Given the description of an element on the screen output the (x, y) to click on. 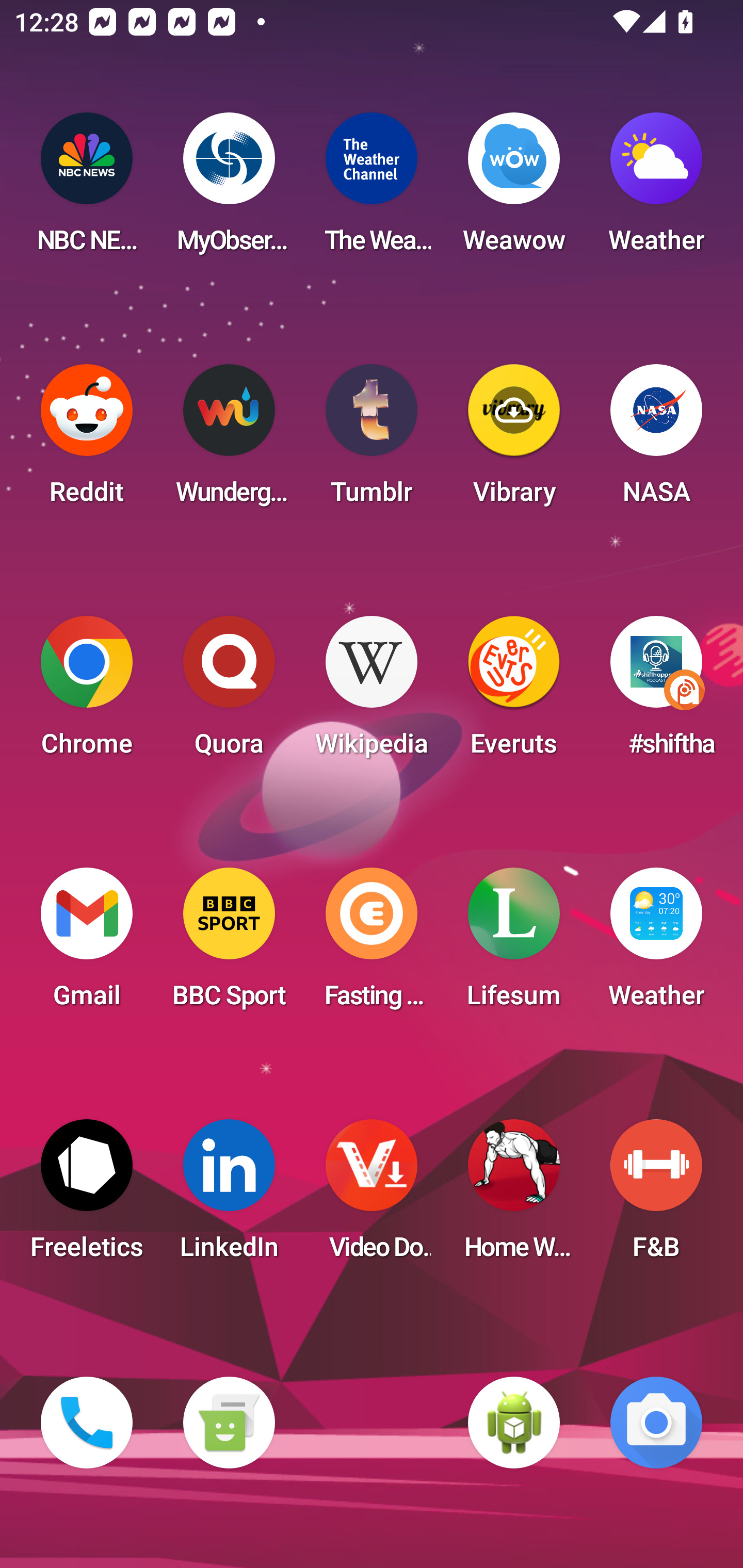
NBC NEWS (86, 188)
MyObservatory (228, 188)
The Weather Channel (371, 188)
Weawow (513, 188)
Weather (656, 188)
Reddit (86, 440)
Wunderground (228, 440)
Tumblr (371, 440)
Vibrary (513, 440)
NASA (656, 440)
Chrome (86, 692)
Quora (228, 692)
Wikipedia (371, 692)
Everuts (513, 692)
#shifthappens in the Digital Workplace Podcast (656, 692)
Gmail (86, 943)
BBC Sport (228, 943)
Fasting Coach (371, 943)
Lifesum (513, 943)
Weather (656, 943)
Freeletics (86, 1195)
LinkedIn (228, 1195)
Video Downloader & Ace Player (371, 1195)
Home Workout (513, 1195)
F&B (656, 1195)
Phone (86, 1422)
Messaging (228, 1422)
WebView Browser Tester (513, 1422)
Camera (656, 1422)
